Given the description of an element on the screen output the (x, y) to click on. 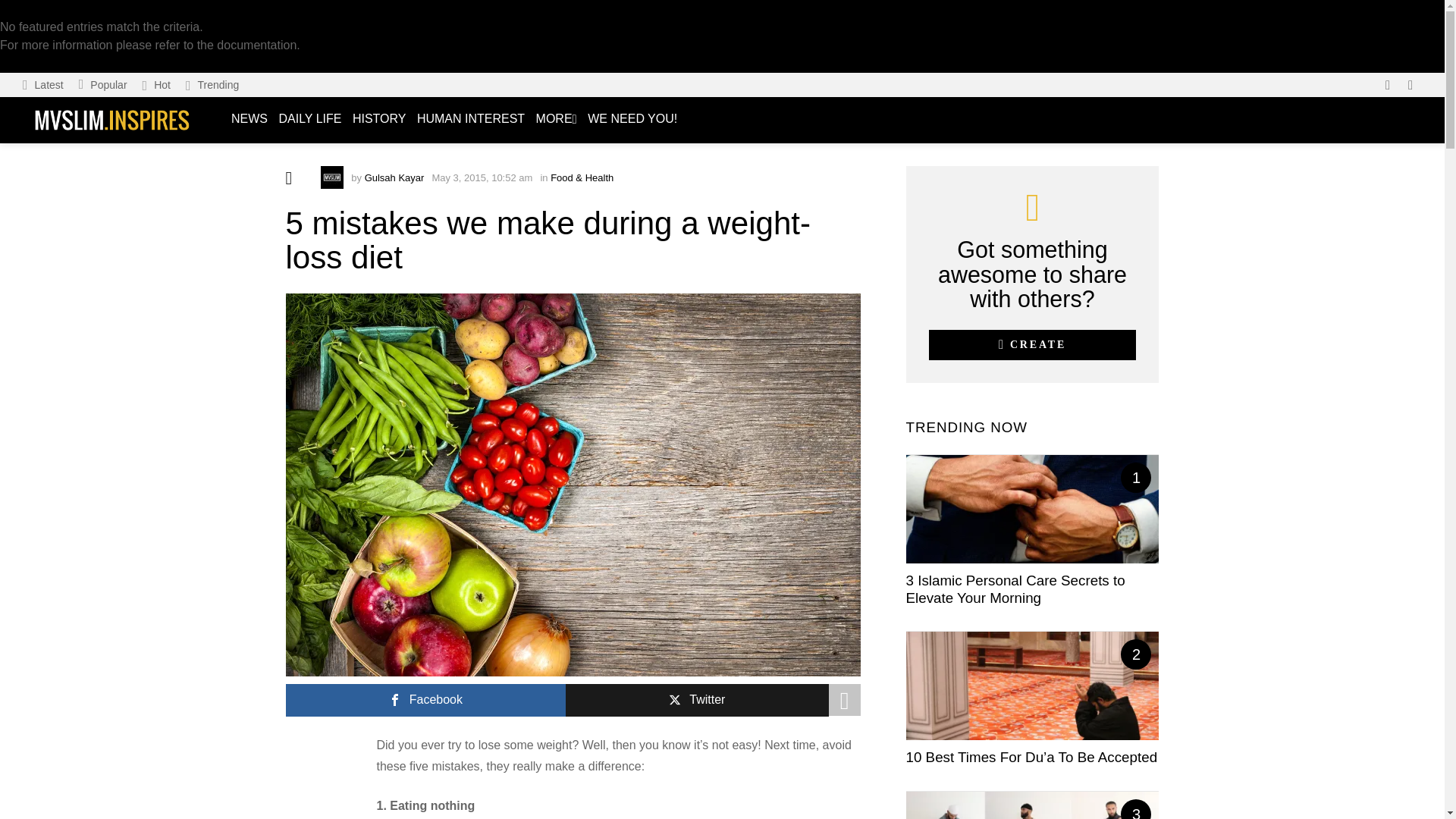
Latest (42, 84)
Follow us (1387, 84)
Twitter (697, 699)
NEWS (248, 118)
Popular (103, 84)
HUMAN INTEREST (470, 118)
Facebook (425, 699)
Search (1201, 161)
Hot (156, 84)
Trending (211, 84)
DAILY LIFE (310, 118)
Posts by Gulsah Kayar (395, 177)
FOLLOW US (1387, 84)
Gulsah Kayar (395, 177)
HISTORY (379, 118)
